Given the description of an element on the screen output the (x, y) to click on. 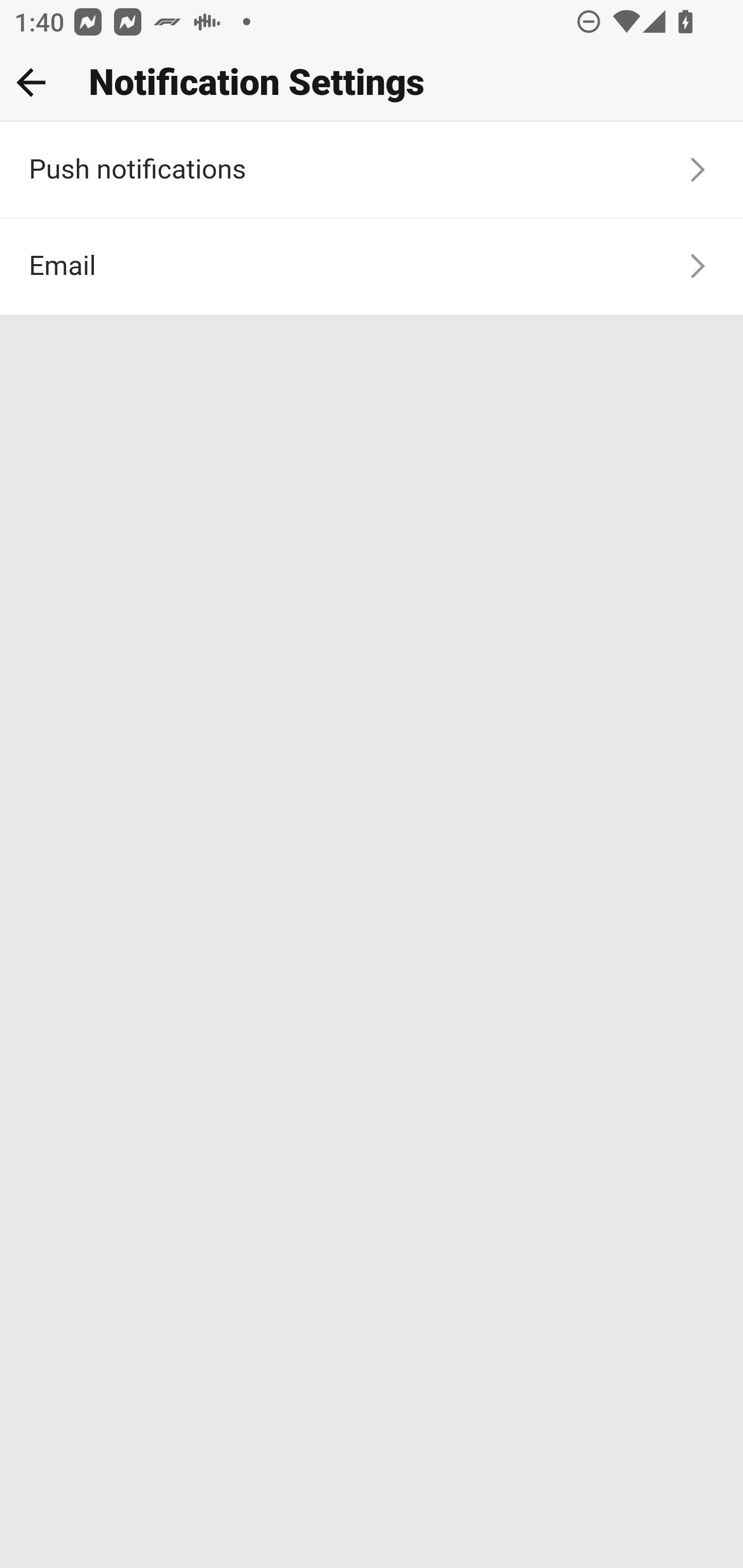
Me Notifications Search (371, 82)
Back (30, 82)
Push notifications (371, 170)
Email (371, 266)
